Given the description of an element on the screen output the (x, y) to click on. 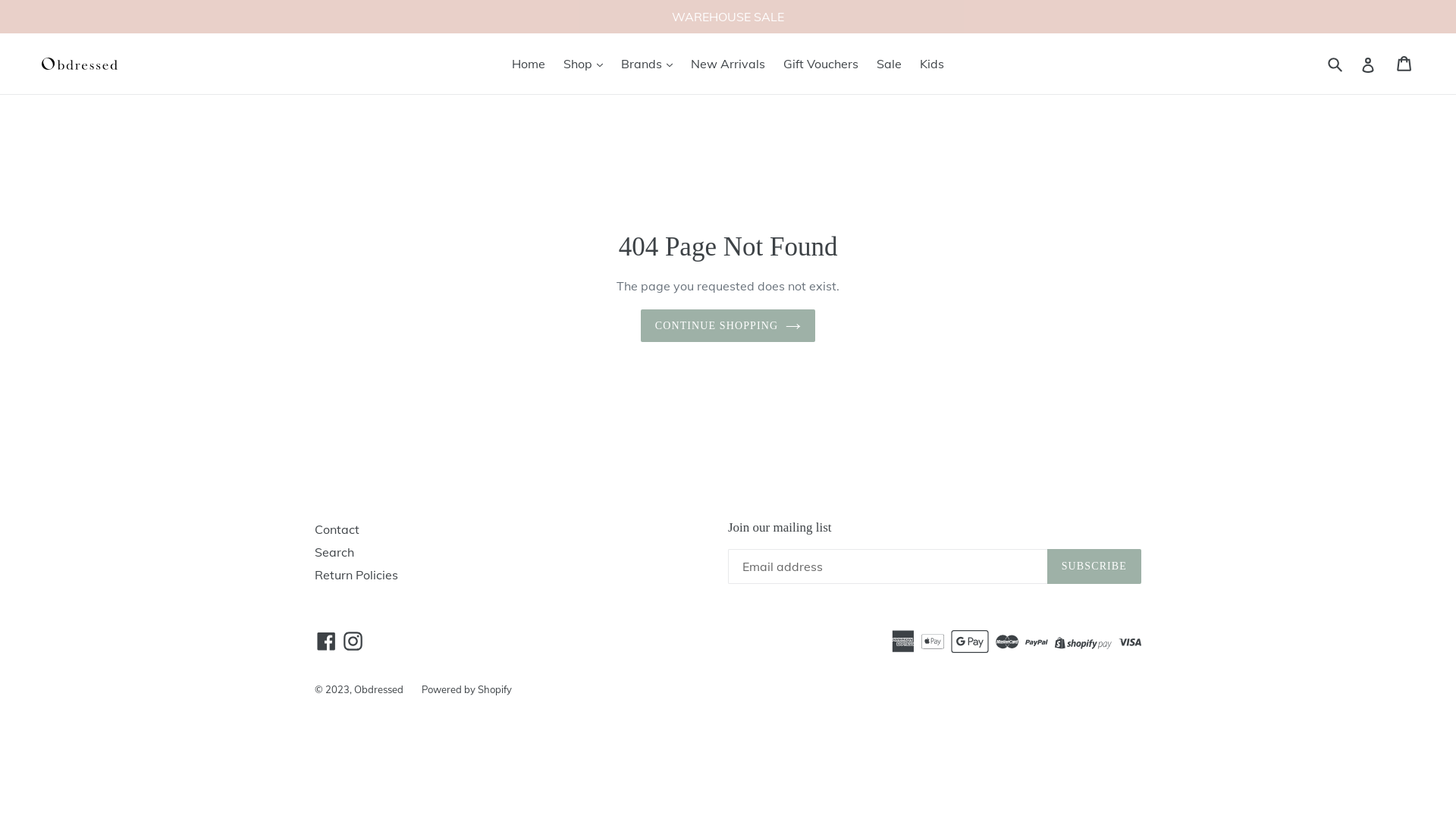
Contact Element type: text (336, 528)
Log in Element type: text (1367, 63)
Cart Element type: text (1404, 64)
Powered by Shopify Element type: text (466, 689)
Submit Element type: text (1335, 63)
Kids Element type: text (931, 63)
Obdressed Element type: text (378, 689)
Return Policies Element type: text (356, 574)
CONTINUE SHOPPING Element type: text (727, 325)
New Arrivals Element type: text (727, 63)
SUBSCRIBE Element type: text (1094, 566)
Home Element type: text (528, 63)
Sale Element type: text (889, 63)
Search Element type: text (334, 551)
Gift Vouchers Element type: text (820, 63)
Facebook Element type: text (326, 640)
Instagram Element type: text (352, 640)
